Given the description of an element on the screen output the (x, y) to click on. 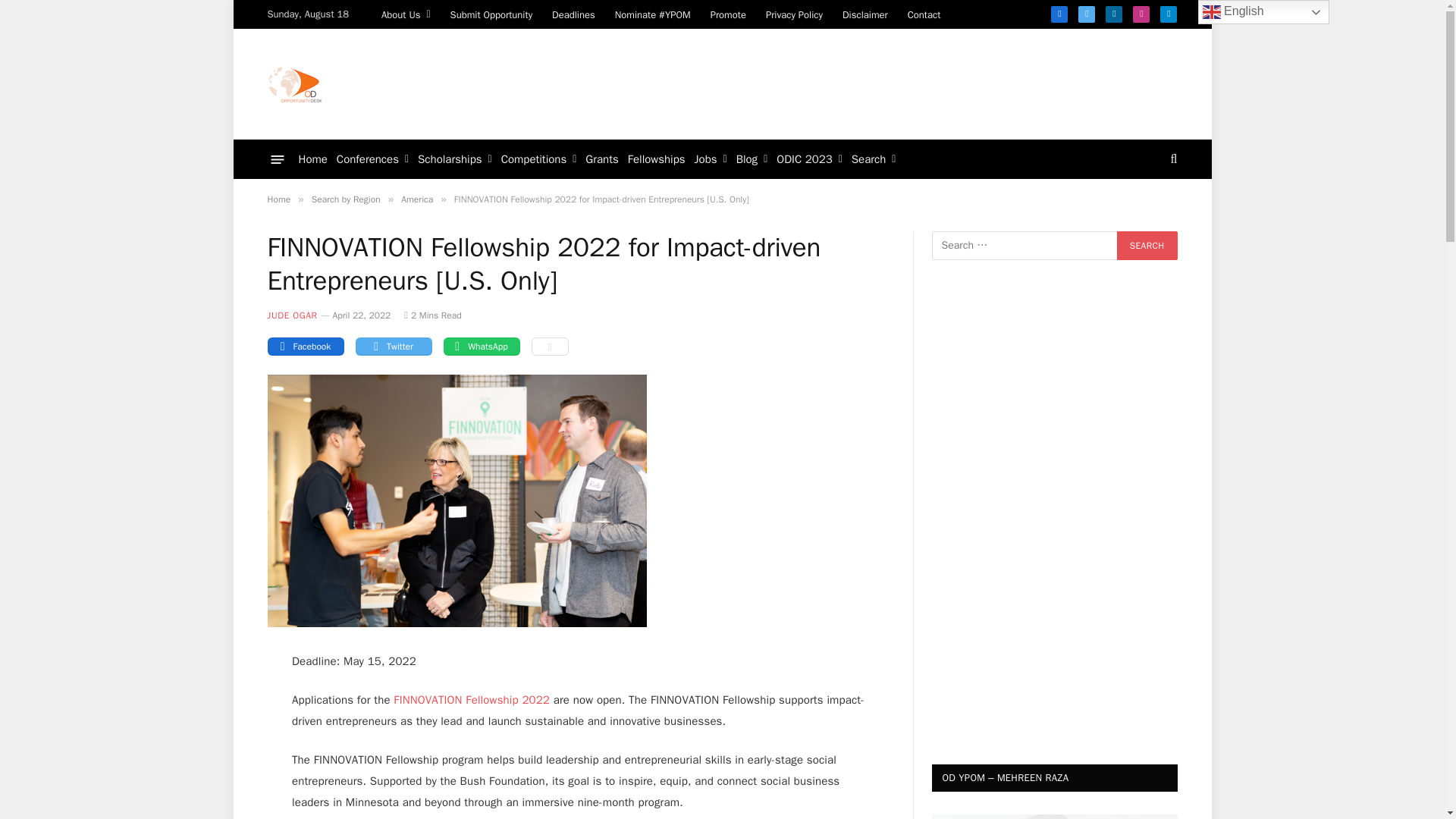
Show More Social Sharing (549, 346)
Share on WhatsApp (480, 346)
Posts by Jude Ogar (291, 315)
Opportunity Desk (293, 83)
Advertisement (900, 81)
Search (1146, 245)
Search (1146, 245)
Share on Facebook (304, 346)
